Given the description of an element on the screen output the (x, y) to click on. 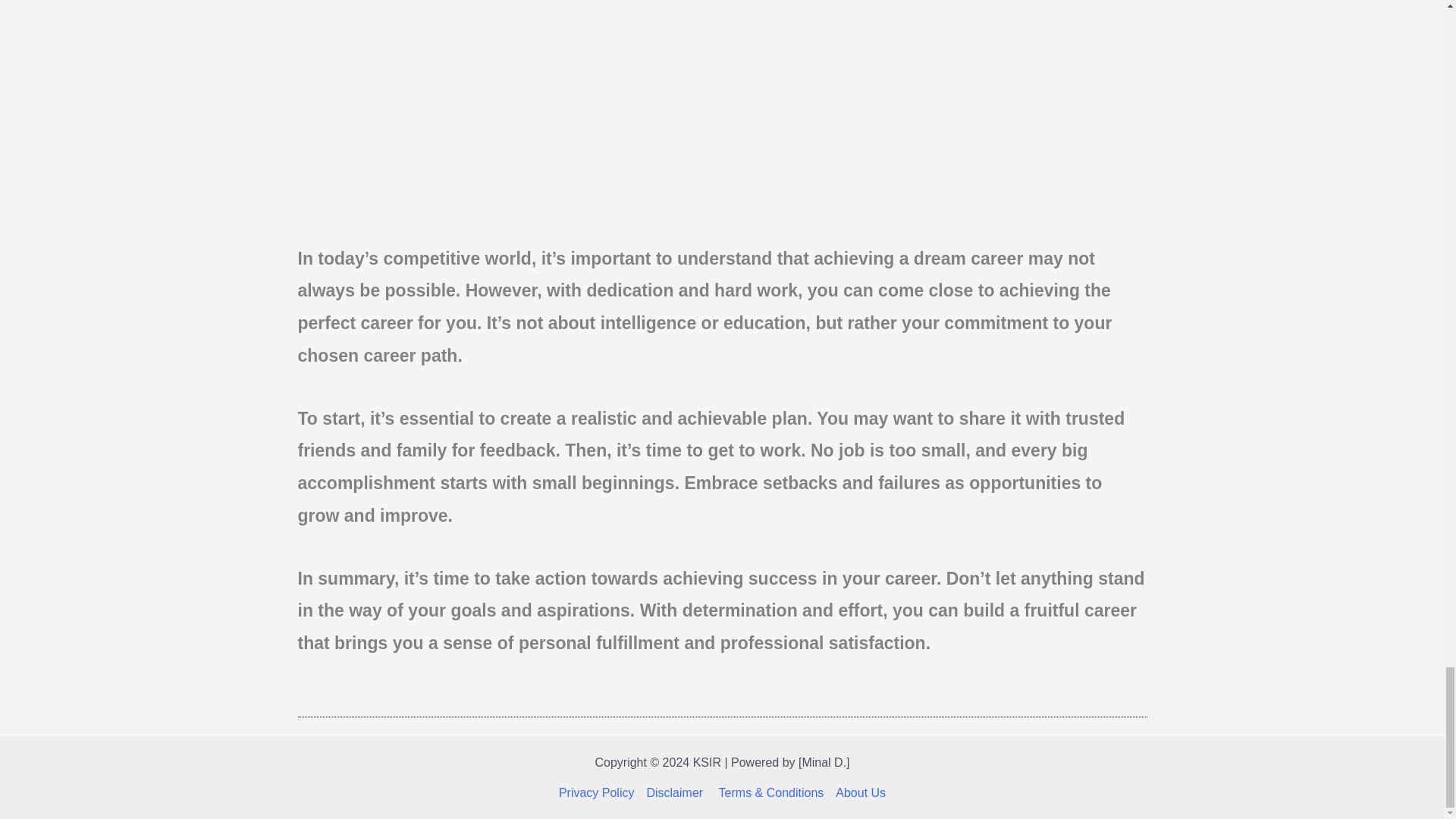
Privacy Policy (599, 793)
Disclaimer  (675, 793)
